Given the description of an element on the screen output the (x, y) to click on. 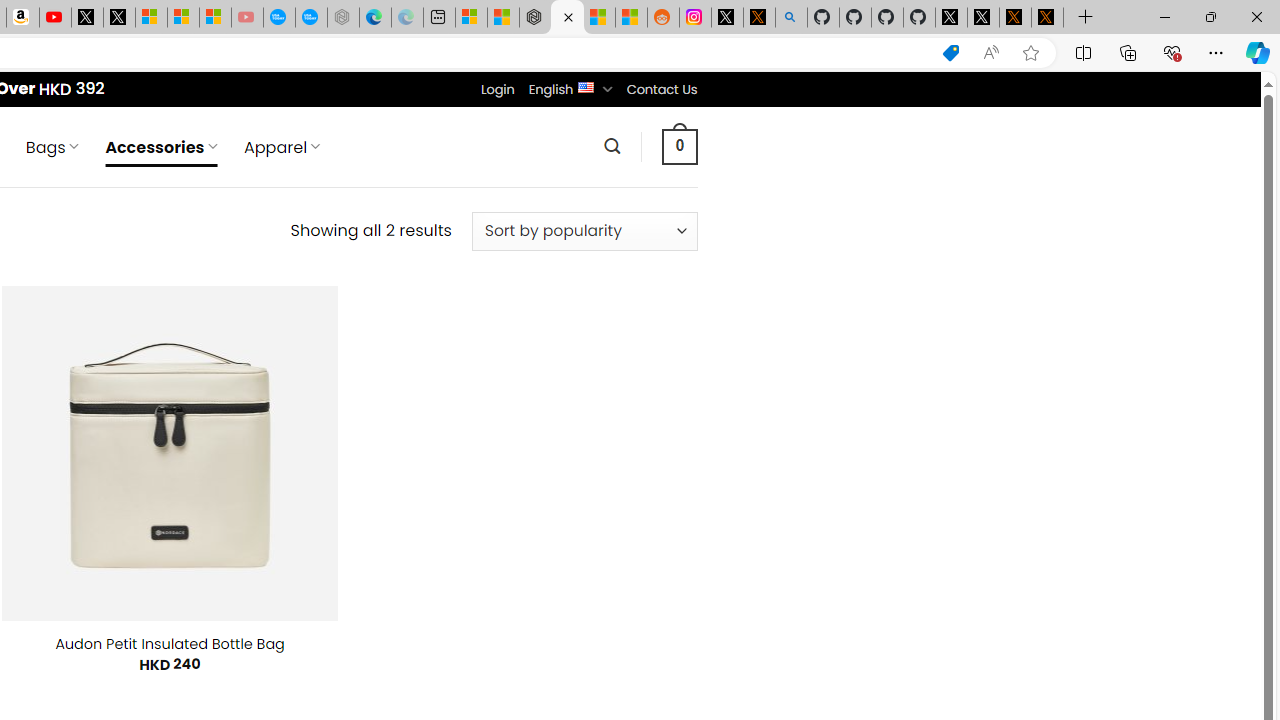
GitHub (@github) / X (983, 17)
Opinion: Op-Ed and Commentary - USA TODAY (279, 17)
